Given the description of an element on the screen output the (x, y) to click on. 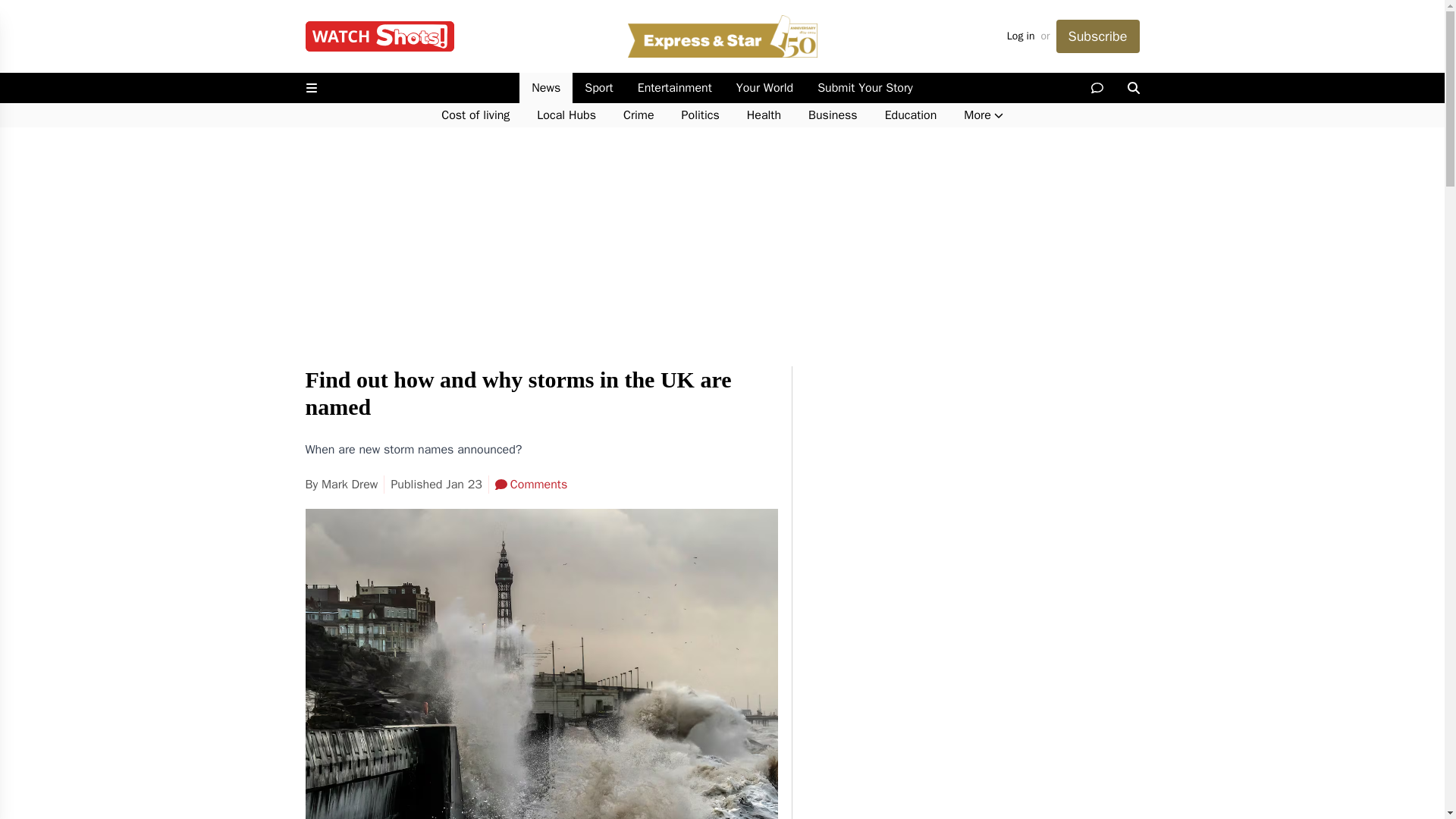
Business (832, 115)
Sport (598, 87)
Local Hubs (566, 115)
Cost of living (475, 115)
Subscribe (1096, 36)
Log in (1021, 36)
Education (910, 115)
Health (764, 115)
Crime (638, 115)
Politics (700, 115)
